Given the description of an element on the screen output the (x, y) to click on. 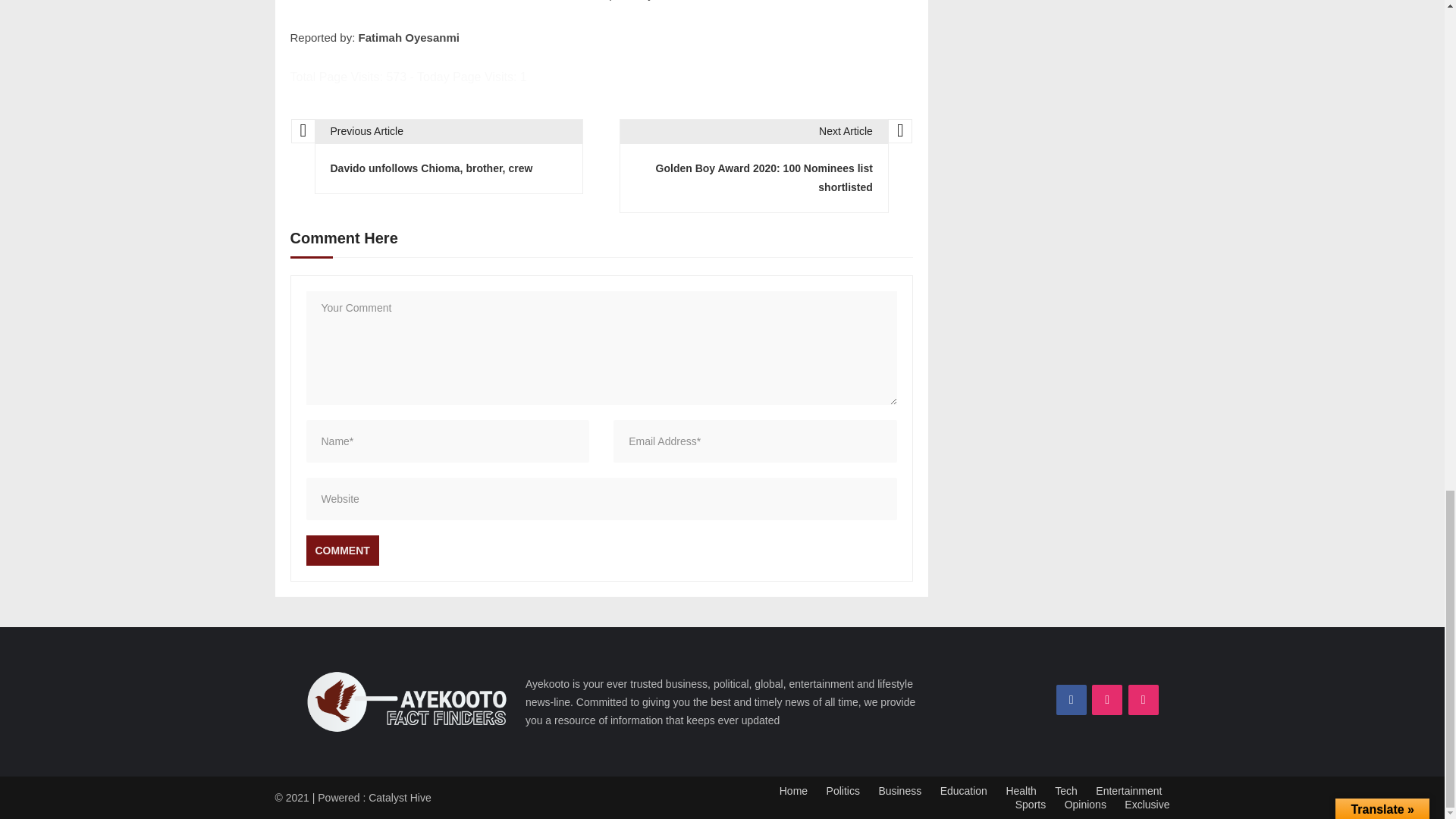
Comment (341, 550)
